Given the description of an element on the screen output the (x, y) to click on. 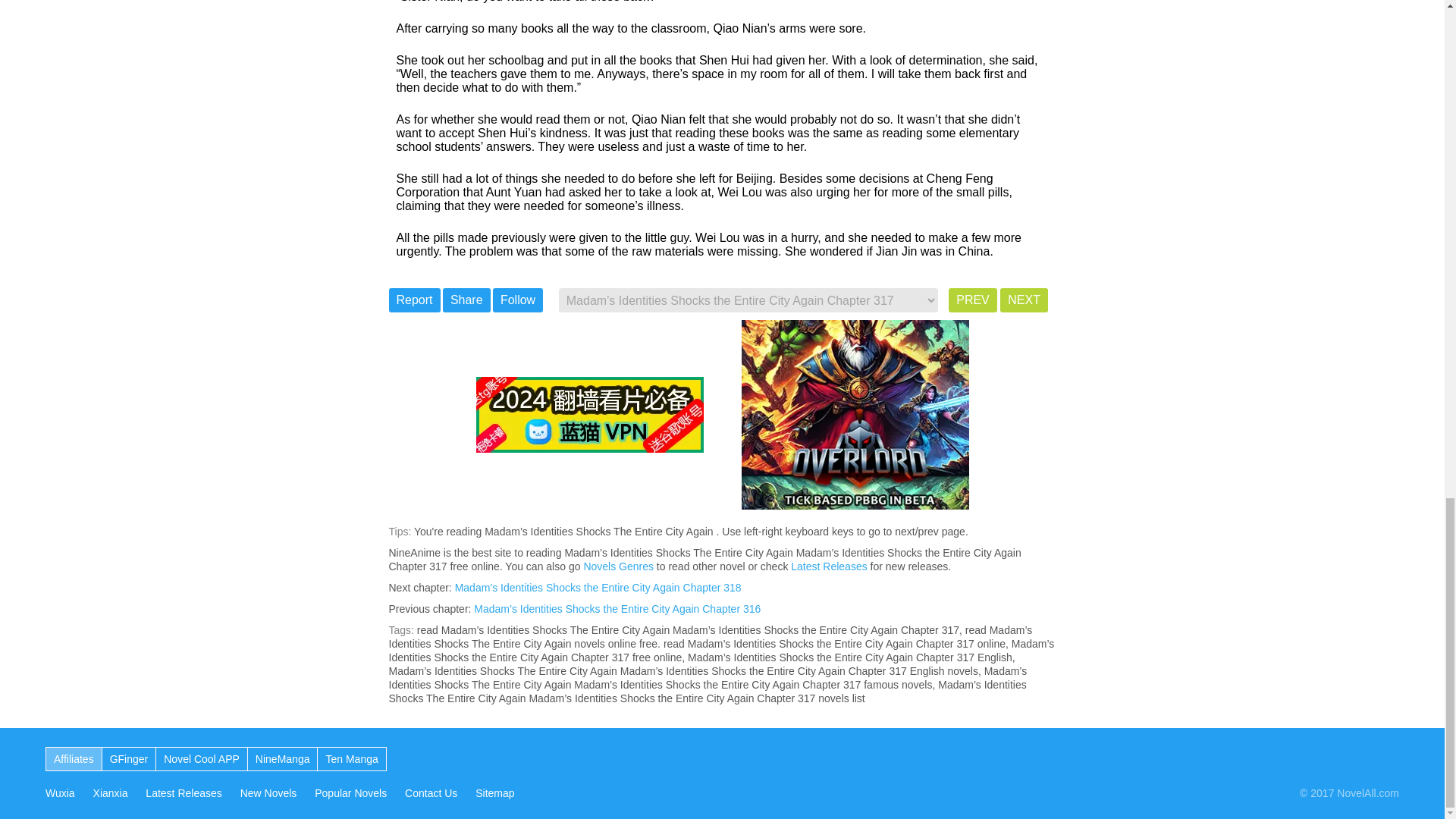
Read Manga Online (350, 758)
Novel Cool APP (201, 758)
GFinger (129, 758)
